Given the description of an element on the screen output the (x, y) to click on. 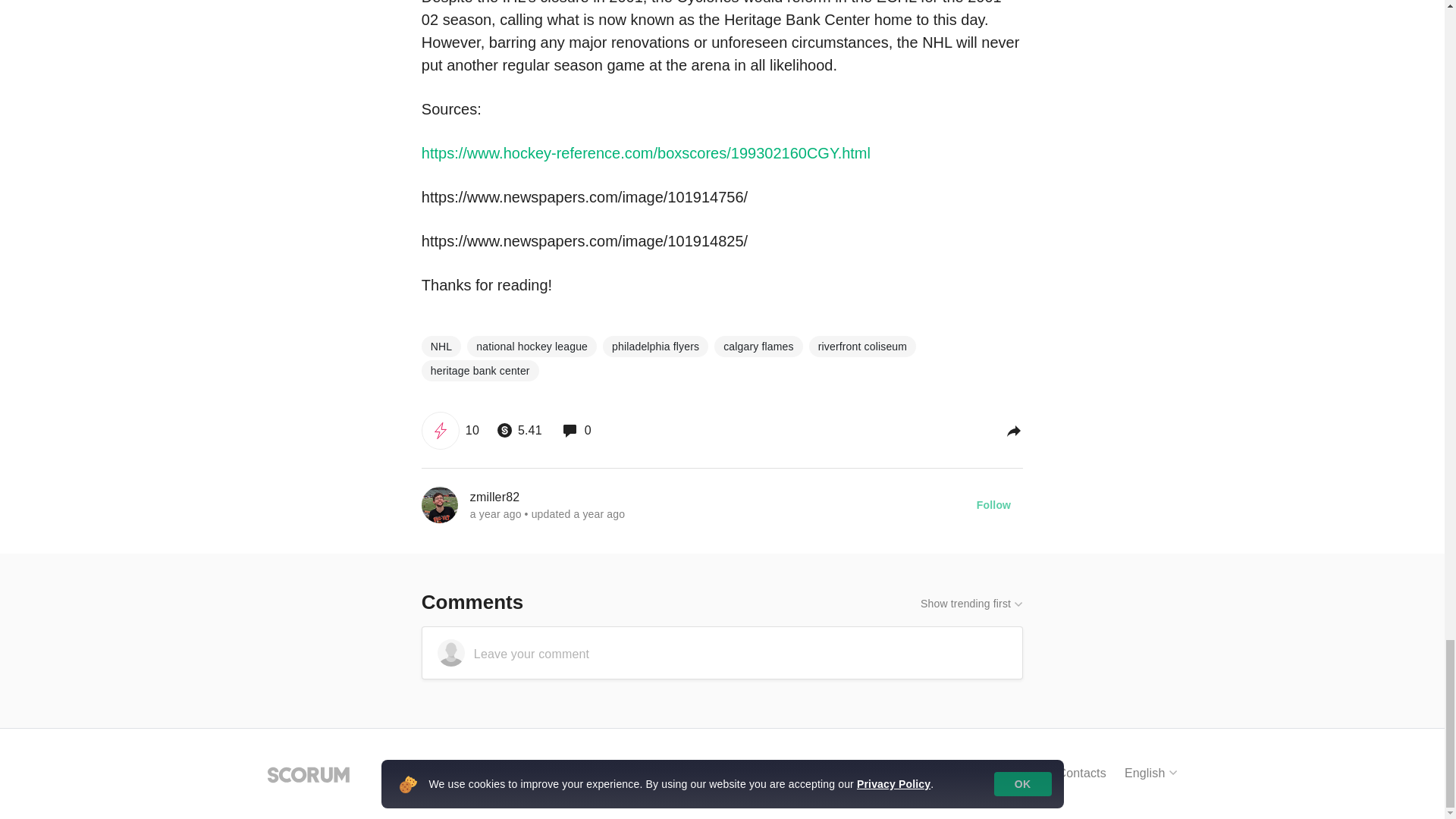
2023-02-17 13:45 (598, 513)
2023-02-16 22:21 (495, 513)
